Given the description of an element on the screen output the (x, y) to click on. 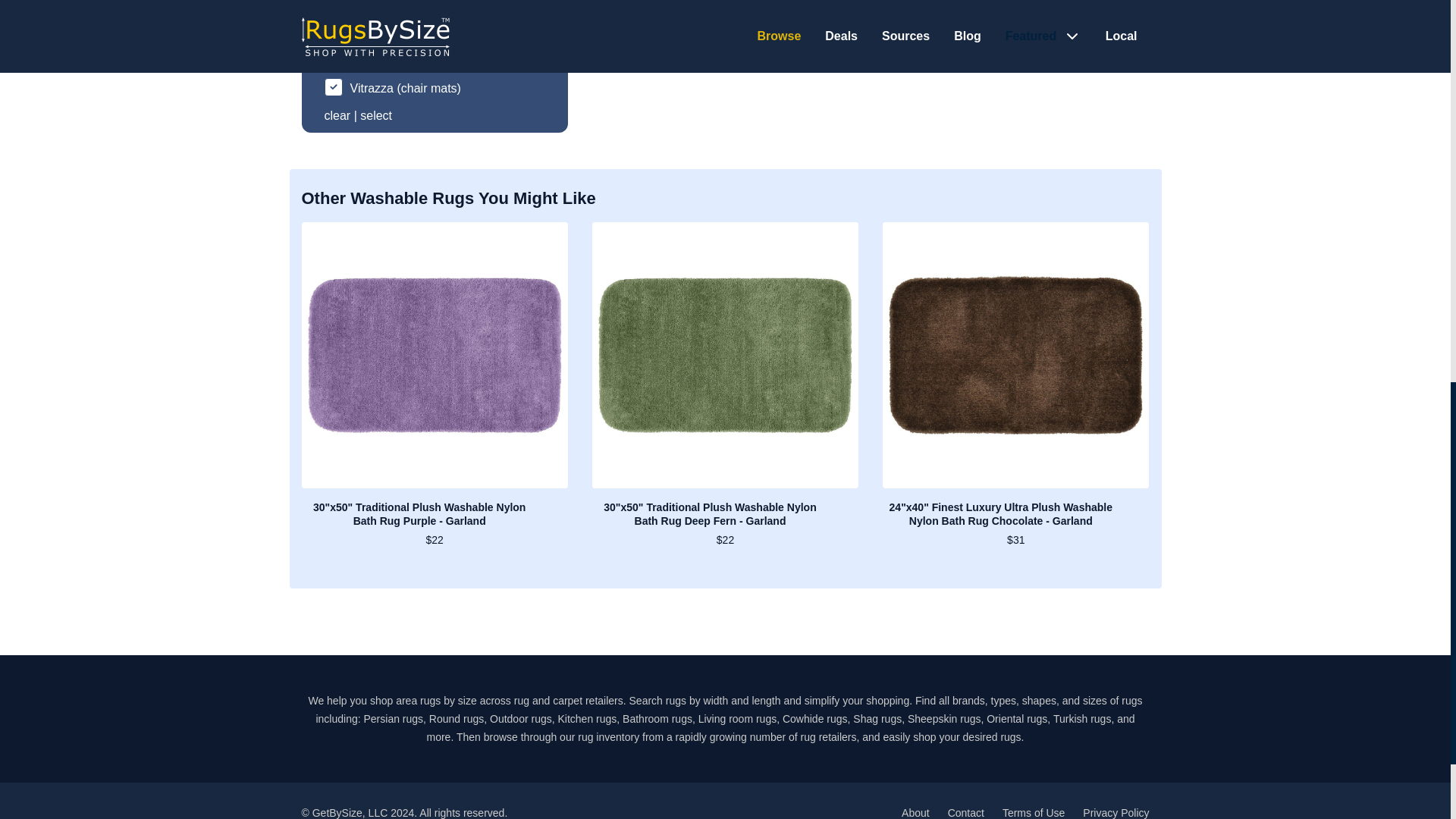
Terms of Use (1033, 812)
Contact (965, 812)
clear (337, 115)
About (915, 812)
select (375, 115)
Privacy Policy (1115, 812)
